Given the description of an element on the screen output the (x, y) to click on. 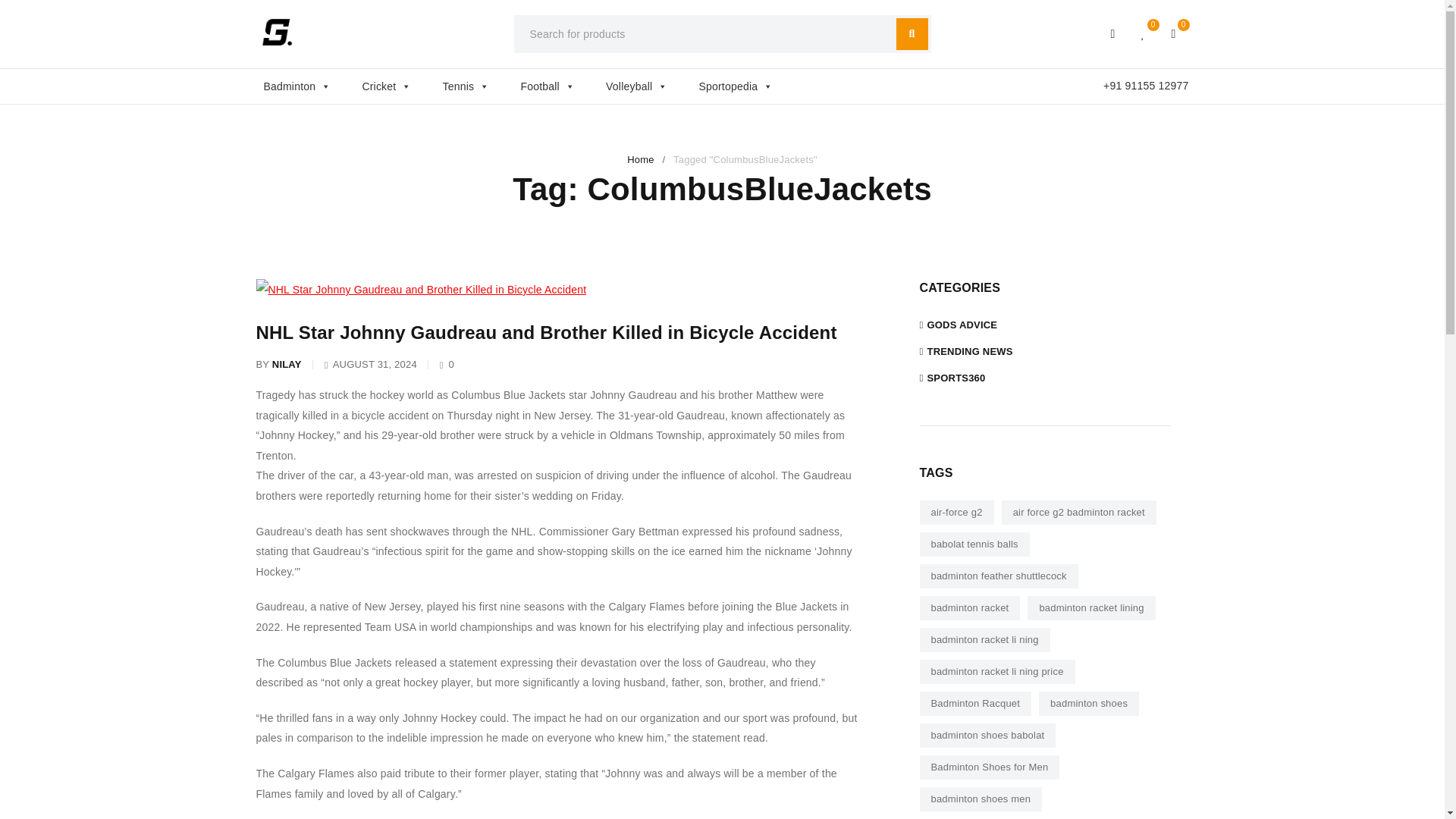
0 (1143, 33)
0 (1173, 33)
View your shopping cart (1173, 33)
Search (912, 33)
Posts by Nilay (286, 364)
Search (912, 33)
Badminton (304, 86)
Wishlist (1143, 33)
Login or Register (1112, 33)
thegodofsports (277, 32)
